Given the description of an element on the screen output the (x, y) to click on. 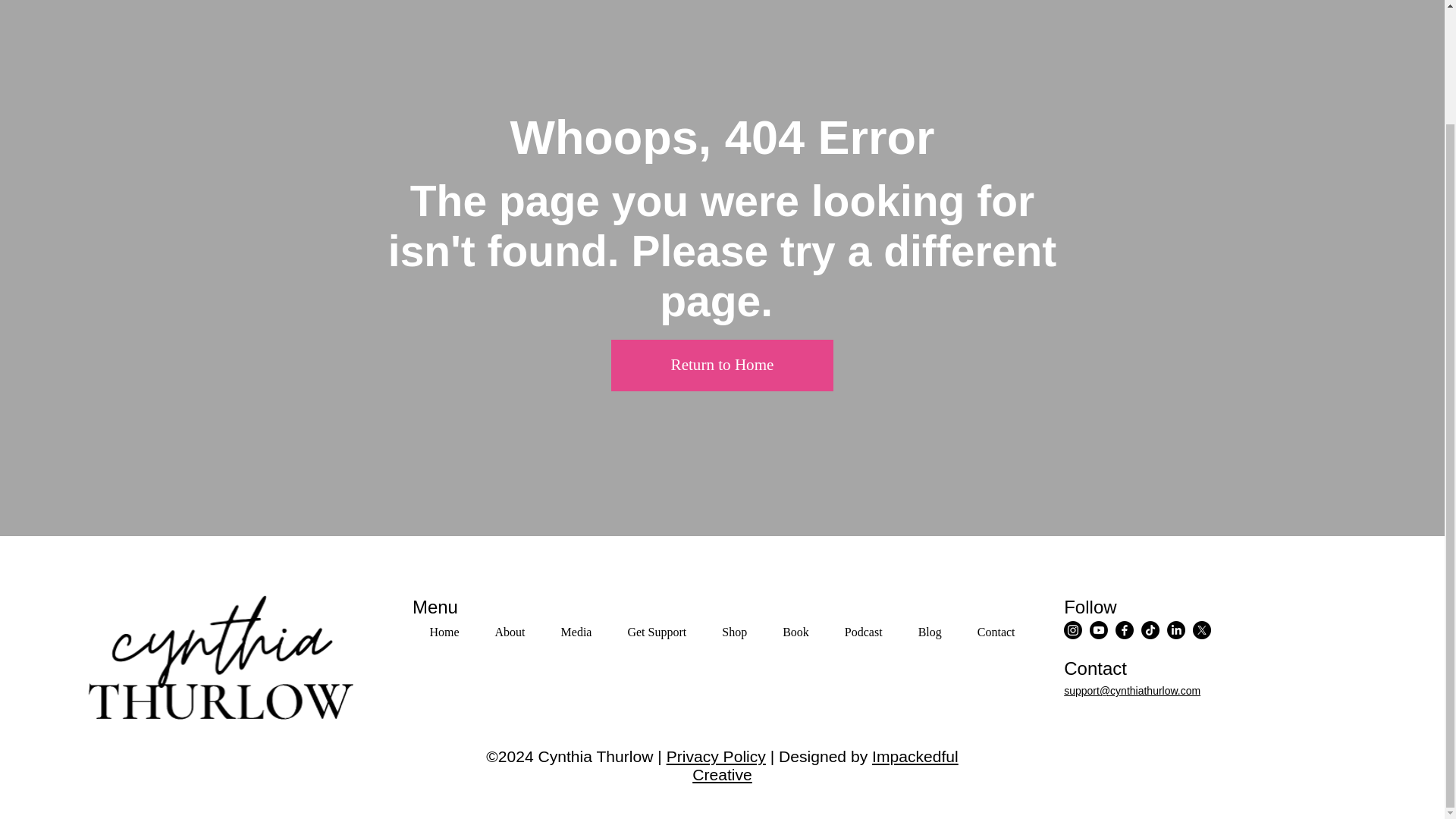
Media (575, 631)
Home (722, 631)
Privacy Policy (444, 631)
Impackedful Creative (715, 755)
About (825, 764)
Return to Home (509, 631)
